Given the description of an element on the screen output the (x, y) to click on. 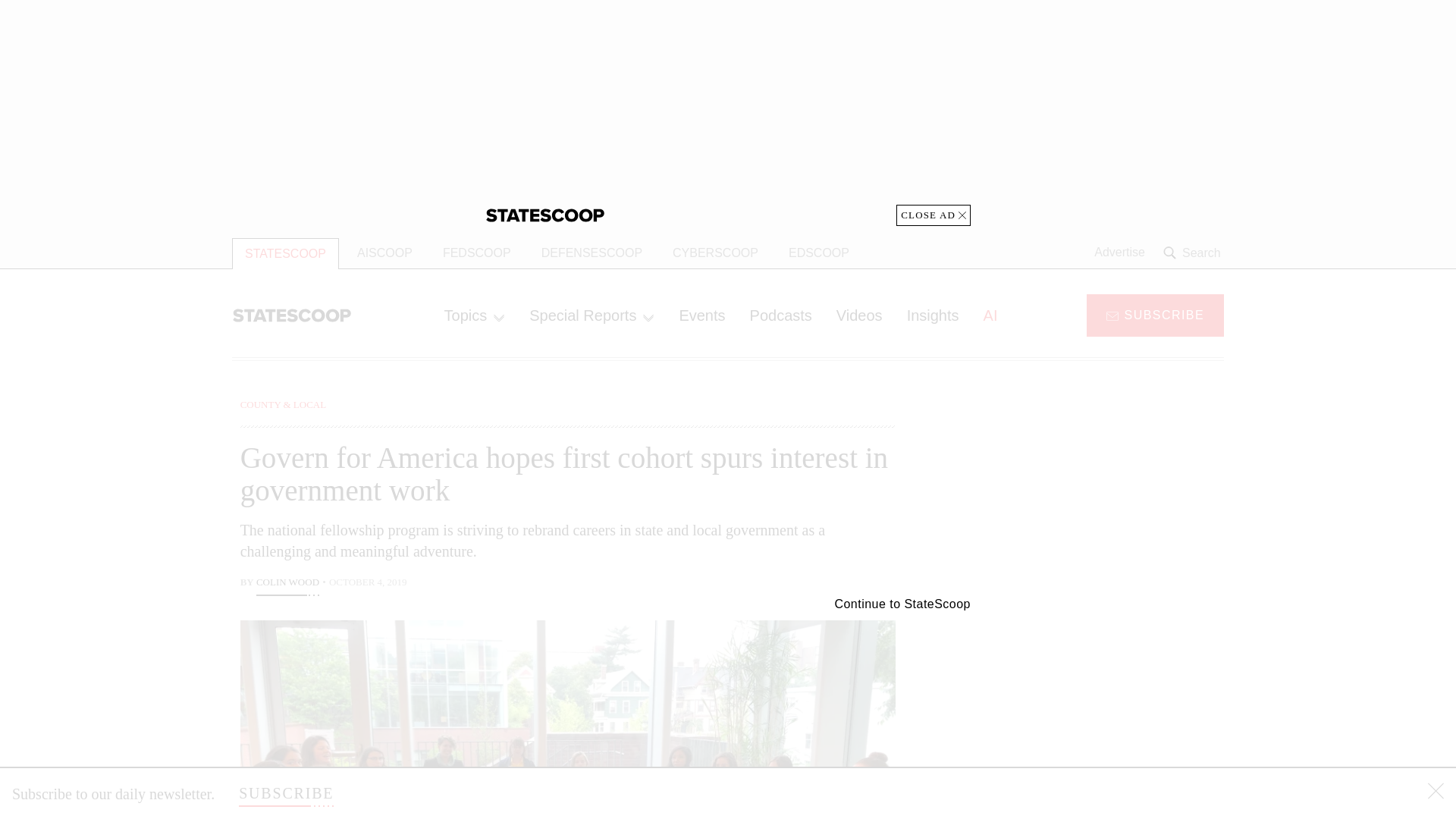
DEFENSESCOOP (591, 253)
Videos (859, 315)
STATESCOOP (285, 253)
Colin Wood (287, 583)
SUBSCRIBE (1155, 314)
AI (990, 315)
Search (1193, 252)
Special Reports (591, 315)
Insights (933, 315)
Topics (475, 315)
EDSCOOP (818, 253)
3rd party ad content (1101, 705)
CYBERSCOOP (715, 253)
Podcasts (781, 315)
